Given the description of an element on the screen output the (x, y) to click on. 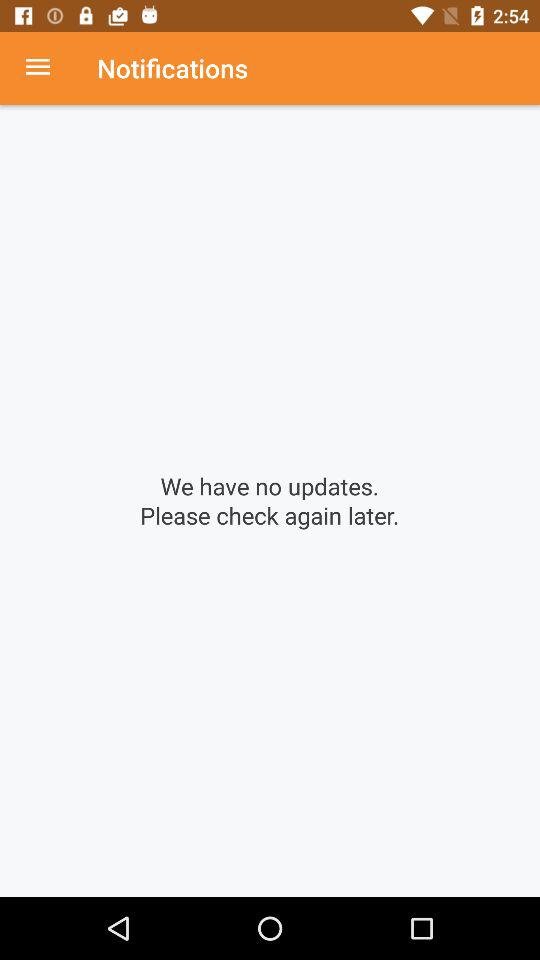
turn off item to the left of notifications (48, 67)
